Given the description of an element on the screen output the (x, y) to click on. 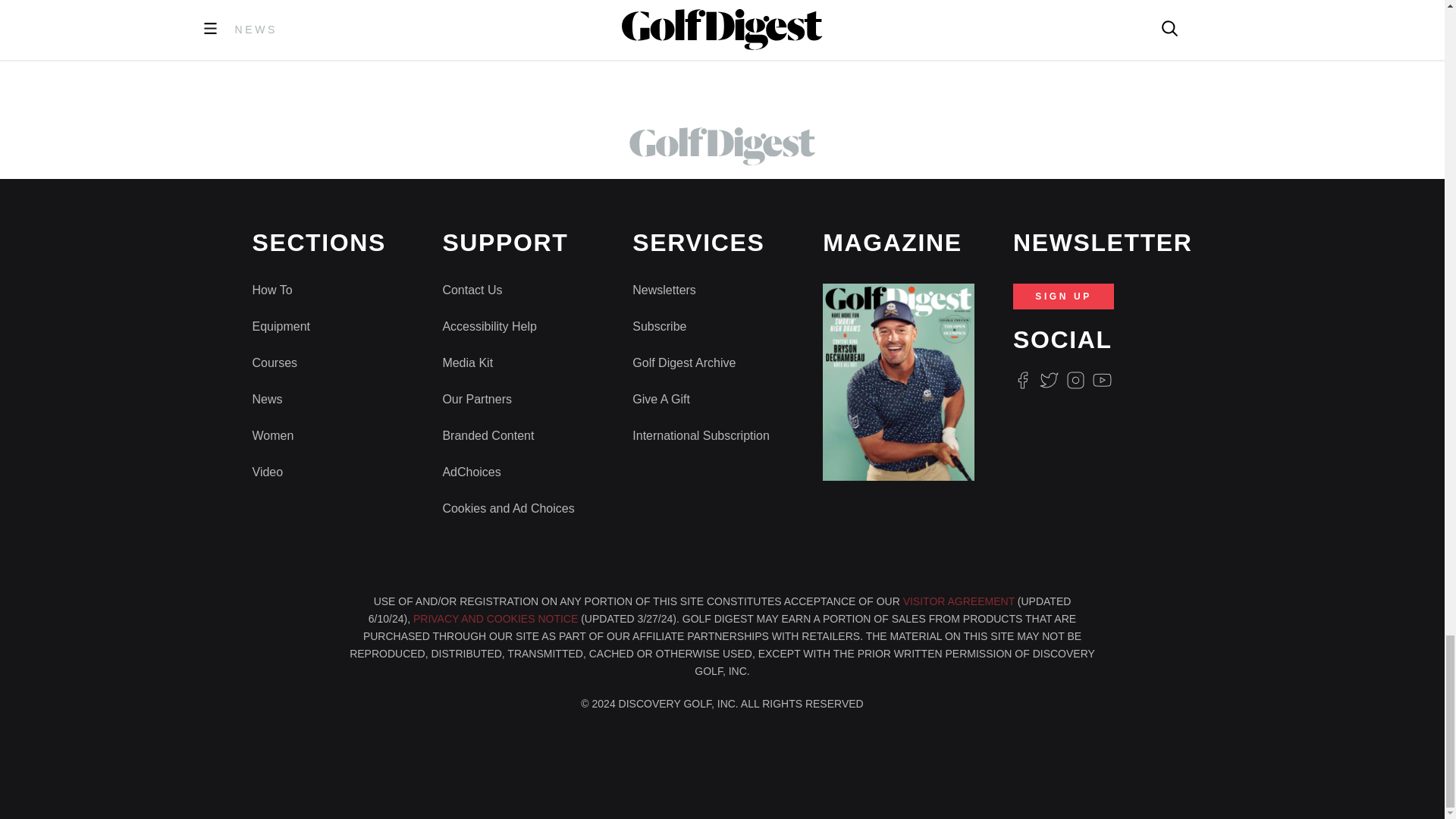
Youtube Icon (1102, 380)
Twitter Logo (1048, 380)
Facebook Logo (1022, 380)
Instagram Logo (1074, 380)
